Given the description of an element on the screen output the (x, y) to click on. 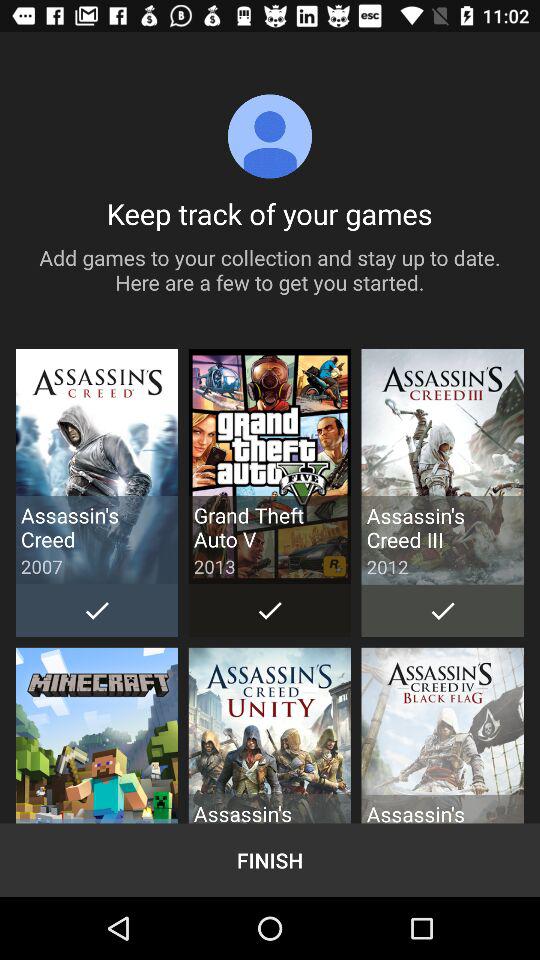
turn off finish button (270, 859)
